Given the description of an element on the screen output the (x, y) to click on. 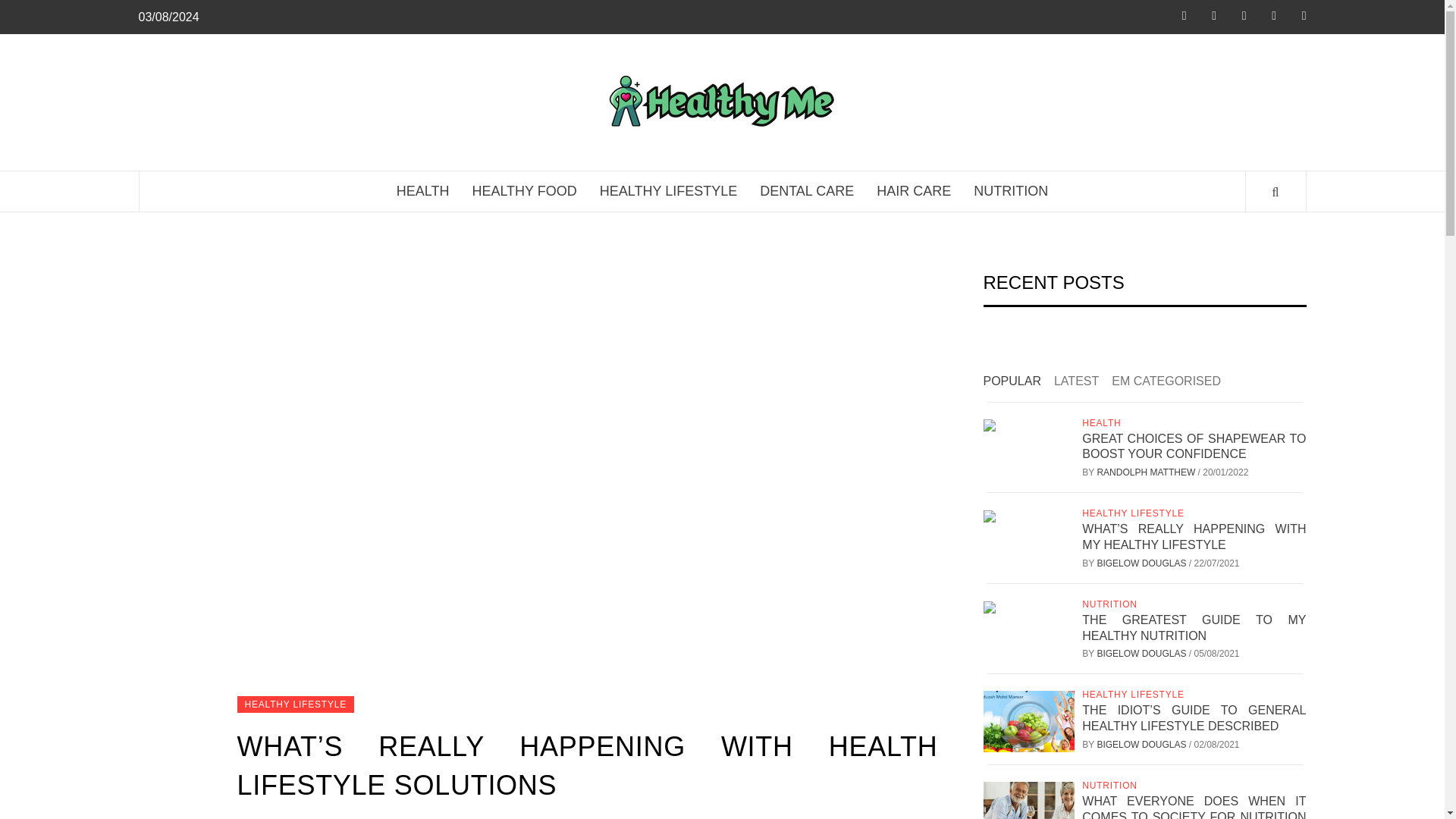
HEALTH (1102, 422)
HEALTHY LIFESTYLE (294, 704)
HEALTHY FOOD (524, 191)
HEALTH (423, 191)
EM CATEGORISED (1171, 381)
LATEST (1081, 381)
POPULAR (1016, 381)
NUTRITION (1010, 191)
HEALTHY ME (953, 95)
DENTAL CARE (806, 191)
HAIR CARE (913, 191)
HEALTHY LIFESTYLE (668, 191)
